Given the description of an element on the screen output the (x, y) to click on. 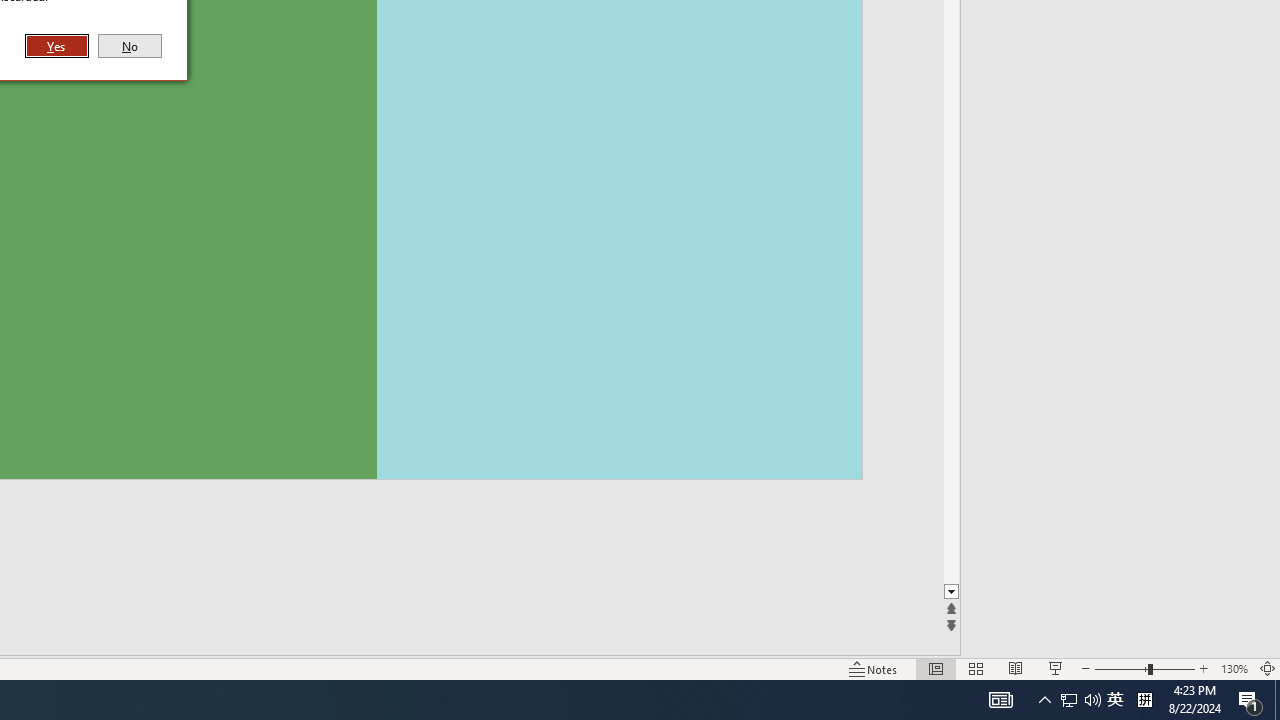
Zoom 130% (1234, 668)
Yes (57, 45)
